Given the description of an element on the screen output the (x, y) to click on. 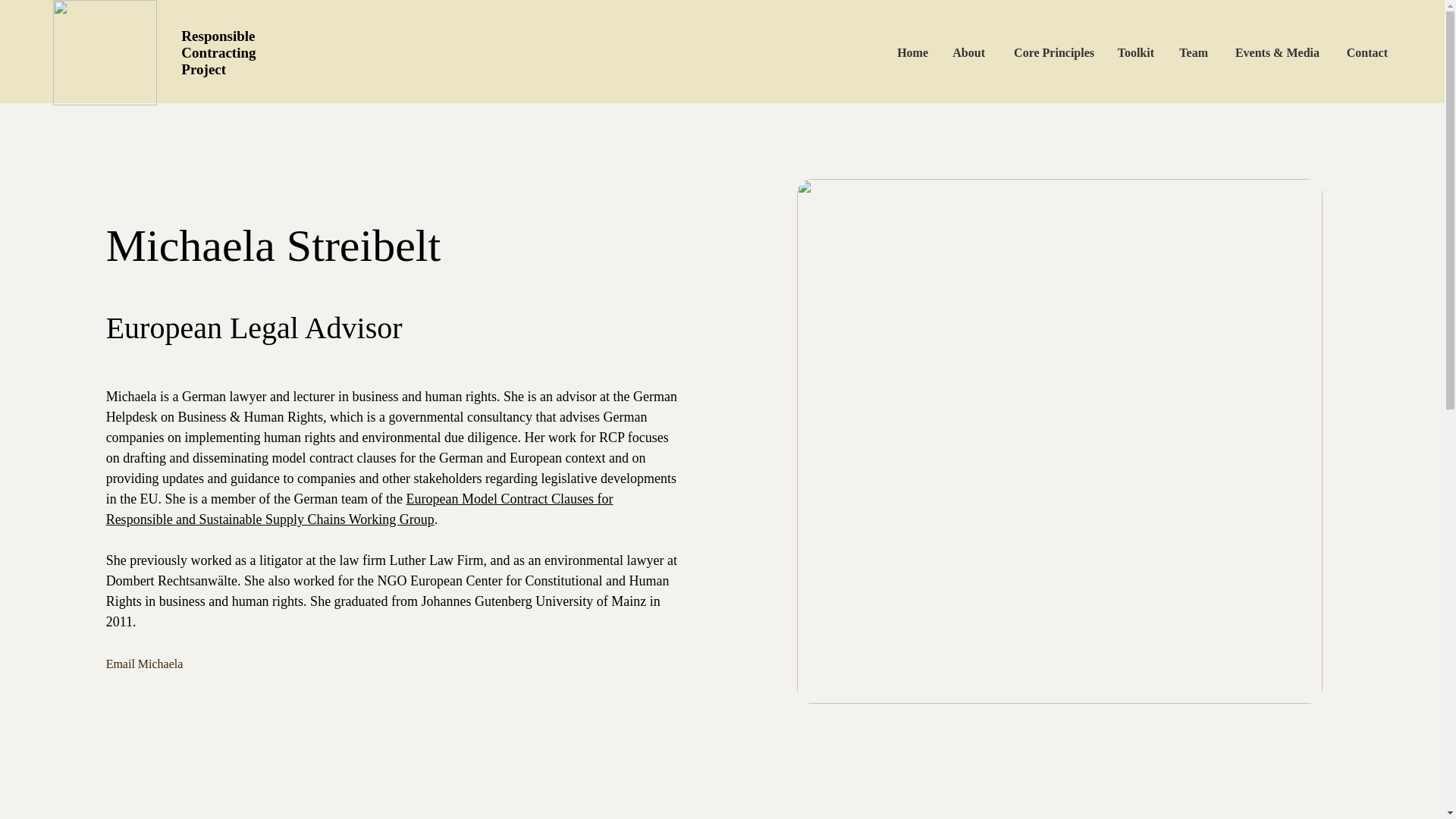
Core Principles (1066, 52)
Email Michaela (172, 664)
About (986, 52)
Toolkit (1147, 52)
Team (1202, 52)
Home (932, 52)
Contact (1367, 52)
